Given the description of an element on the screen output the (x, y) to click on. 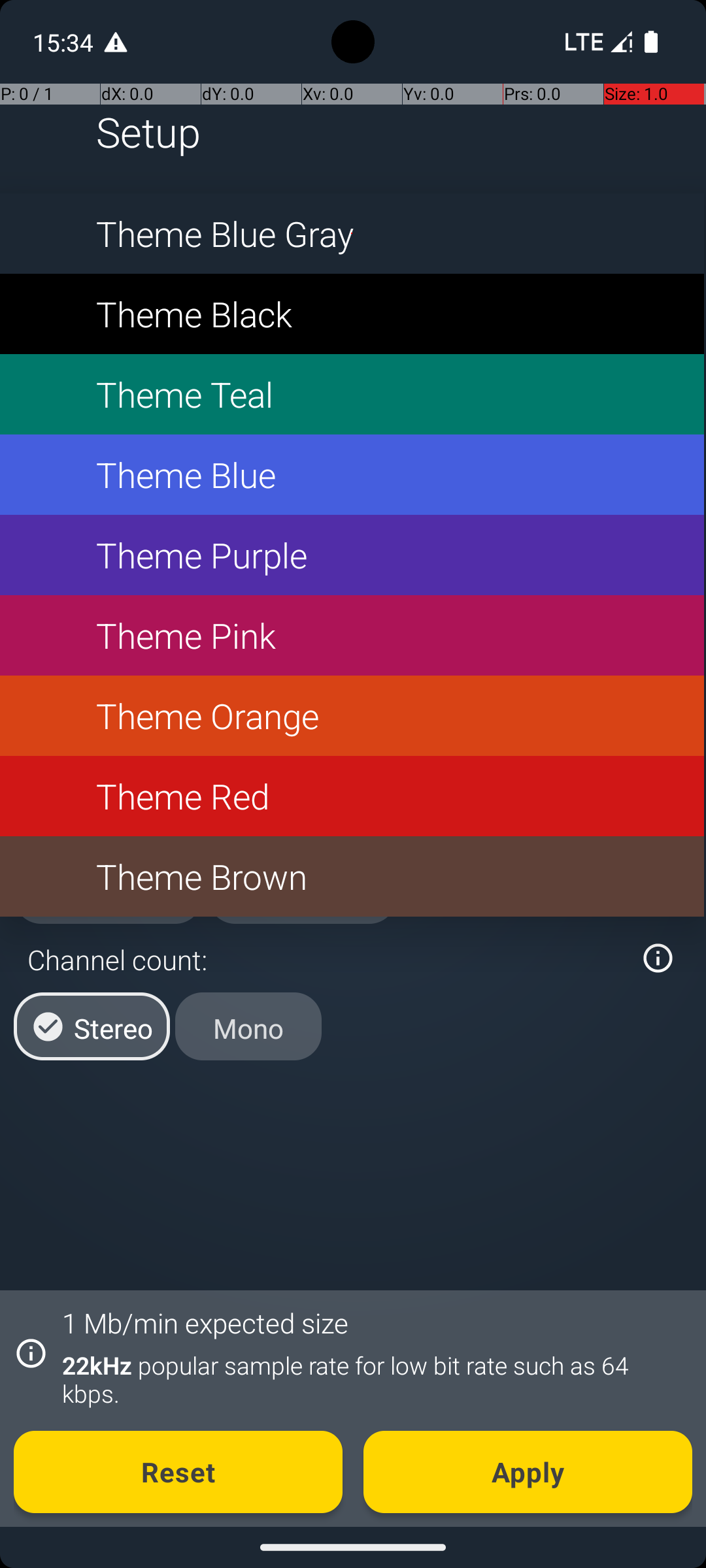
Theme Blue Gray Element type: android.widget.TextView (352, 233)
Theme Black Element type: android.widget.TextView (352, 313)
Theme Teal Element type: android.widget.TextView (352, 394)
Theme Blue Element type: android.widget.TextView (352, 474)
Theme Purple Element type: android.widget.TextView (352, 554)
Theme Pink Element type: android.widget.TextView (352, 635)
Theme Orange Element type: android.widget.TextView (352, 715)
Theme Red Element type: android.widget.TextView (352, 795)
Theme Brown Element type: android.widget.TextView (352, 876)
Android System notification: Data warning Element type: android.widget.ImageView (115, 41)
Phone two bars. Element type: android.widget.FrameLayout (595, 41)
